Given the description of an element on the screen output the (x, y) to click on. 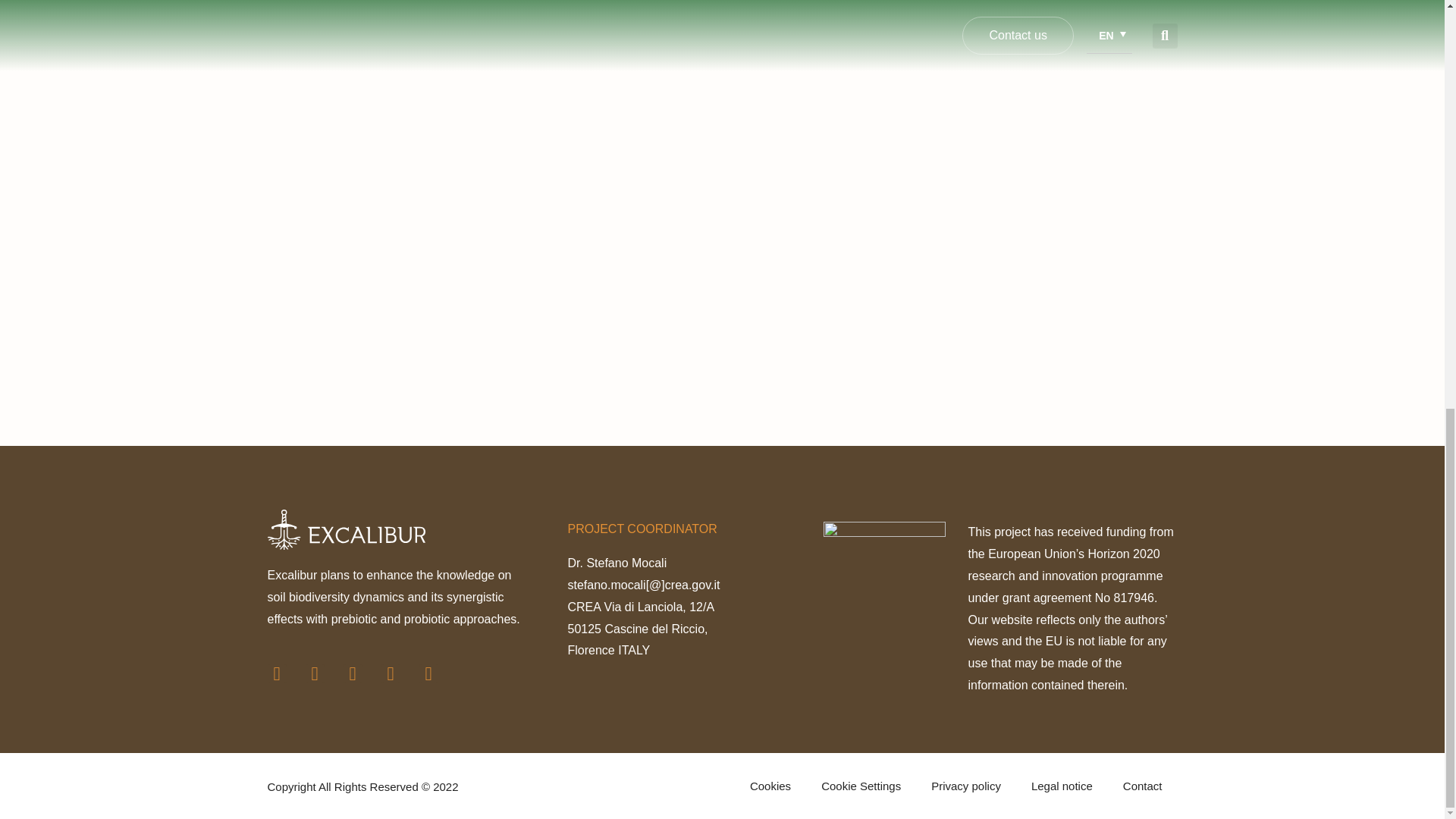
PROJECT COORDINATOR (949, 786)
